Given the description of an element on the screen output the (x, y) to click on. 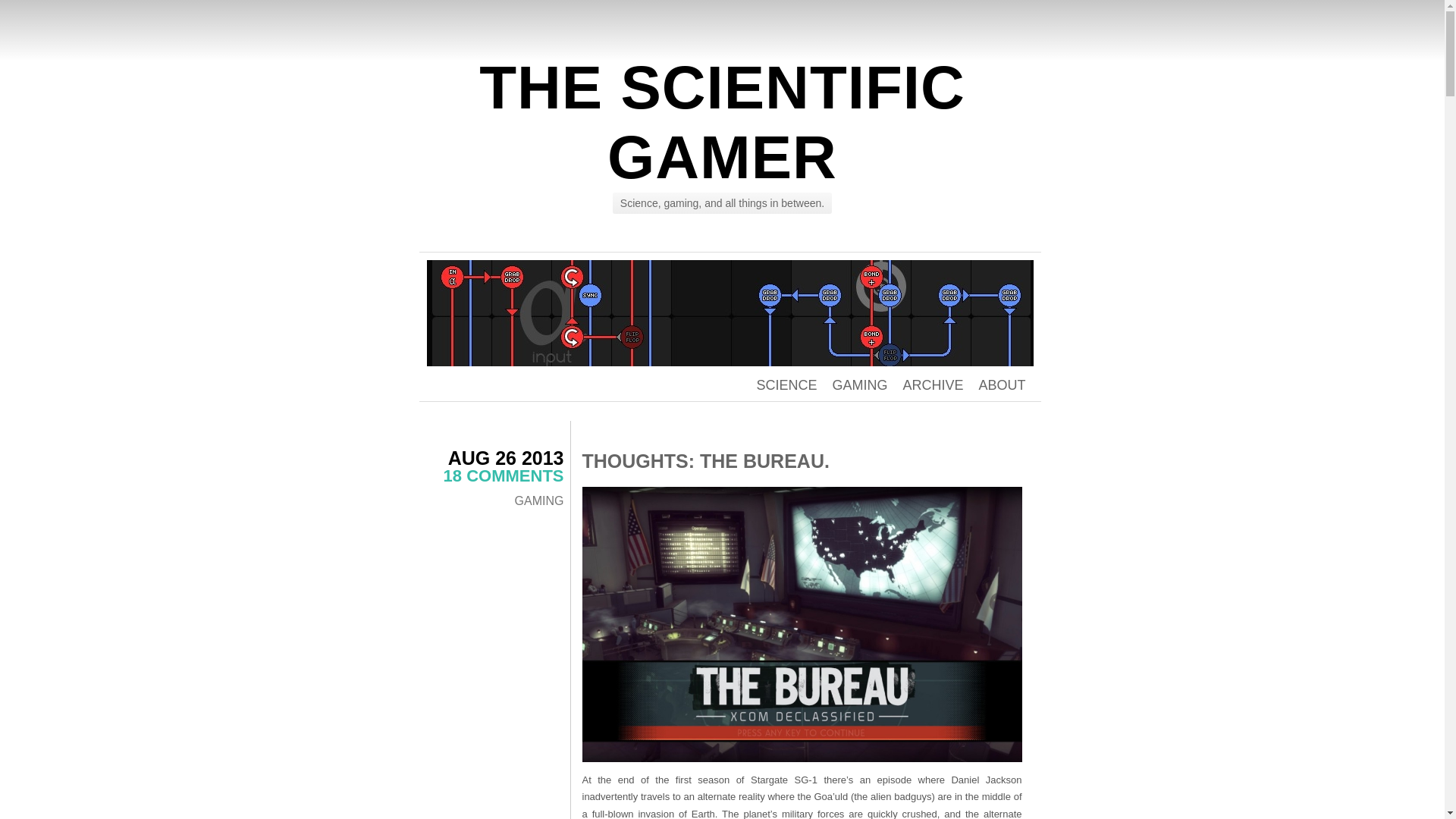
SCIENCE (785, 385)
Comment on Thoughts: The Bureau. (504, 475)
GAMING (858, 385)
Reviews and nostalgic ramblings (858, 385)
More like The Pooreau. (802, 624)
ARCHIVE (932, 385)
AUG 26 2013 (506, 457)
GAMING (539, 500)
THE SCIENTIFIC GAMER (722, 122)
The Scientific Gamer (722, 122)
18 COMMENTS (504, 475)
ABOUT (1001, 385)
View all posts in gaming (539, 500)
